Given the description of an element on the screen output the (x, y) to click on. 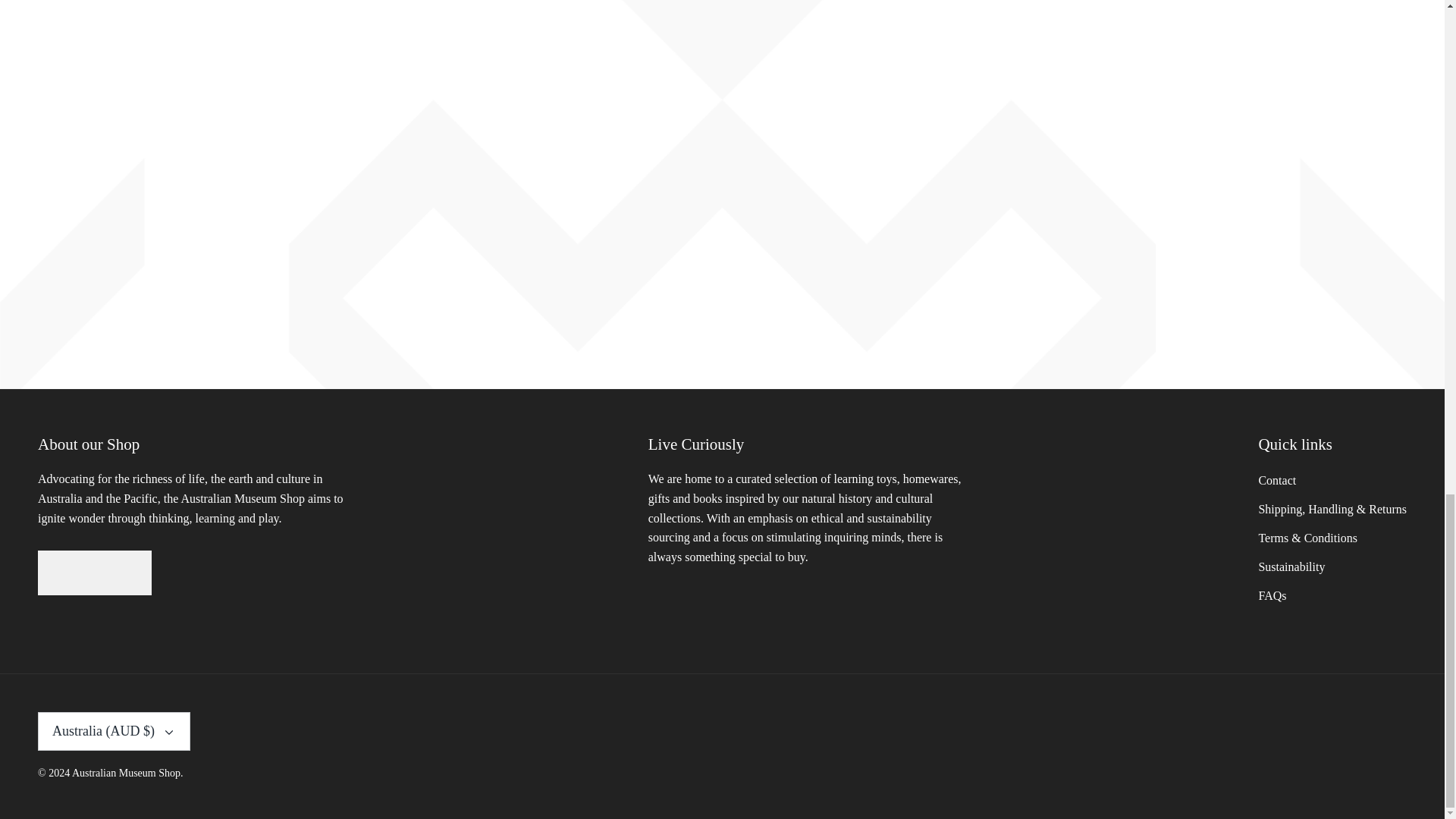
Down (168, 732)
